Given the description of an element on the screen output the (x, y) to click on. 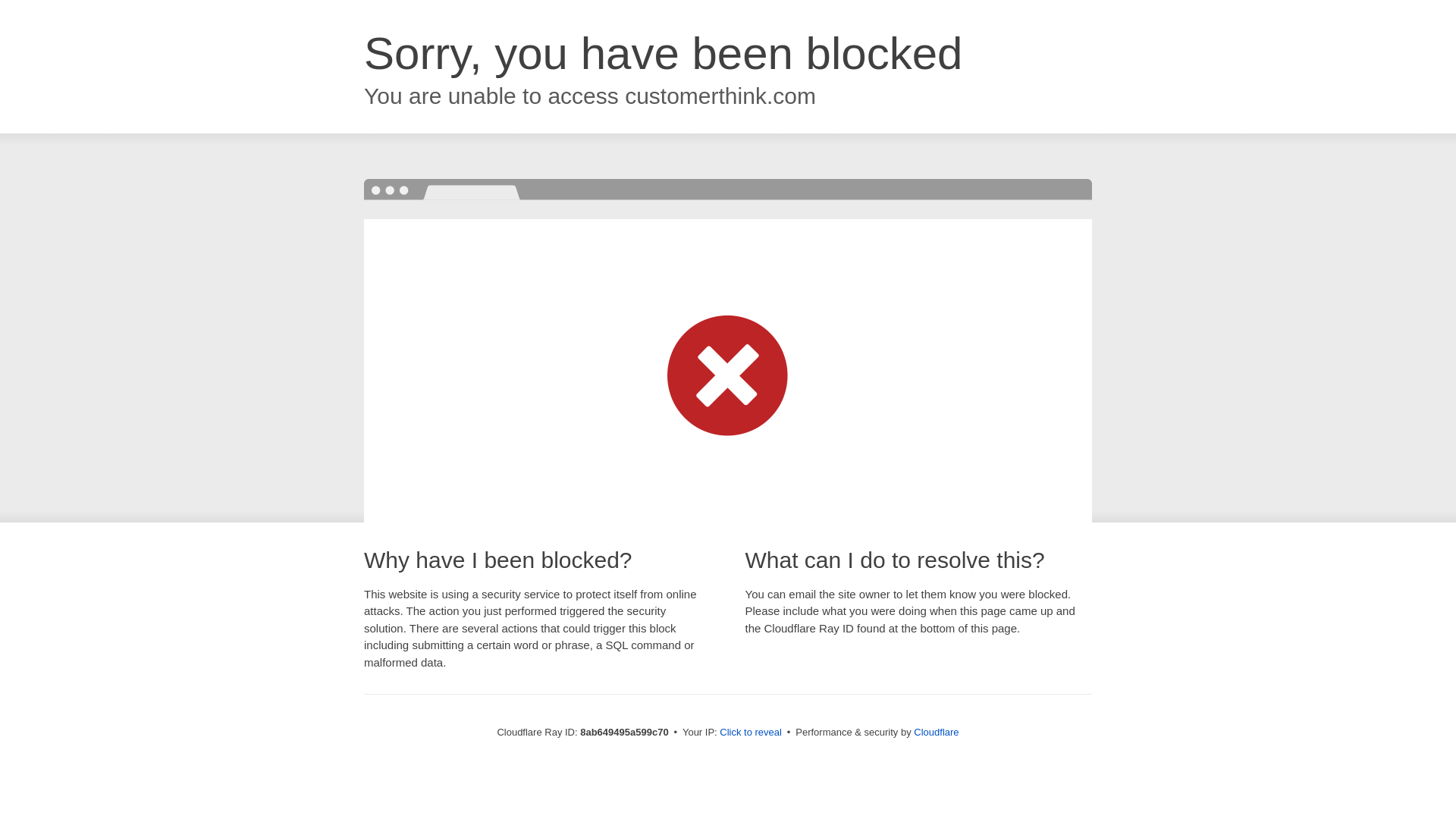
Cloudflare (936, 731)
Click to reveal (750, 732)
